Given the description of an element on the screen output the (x, y) to click on. 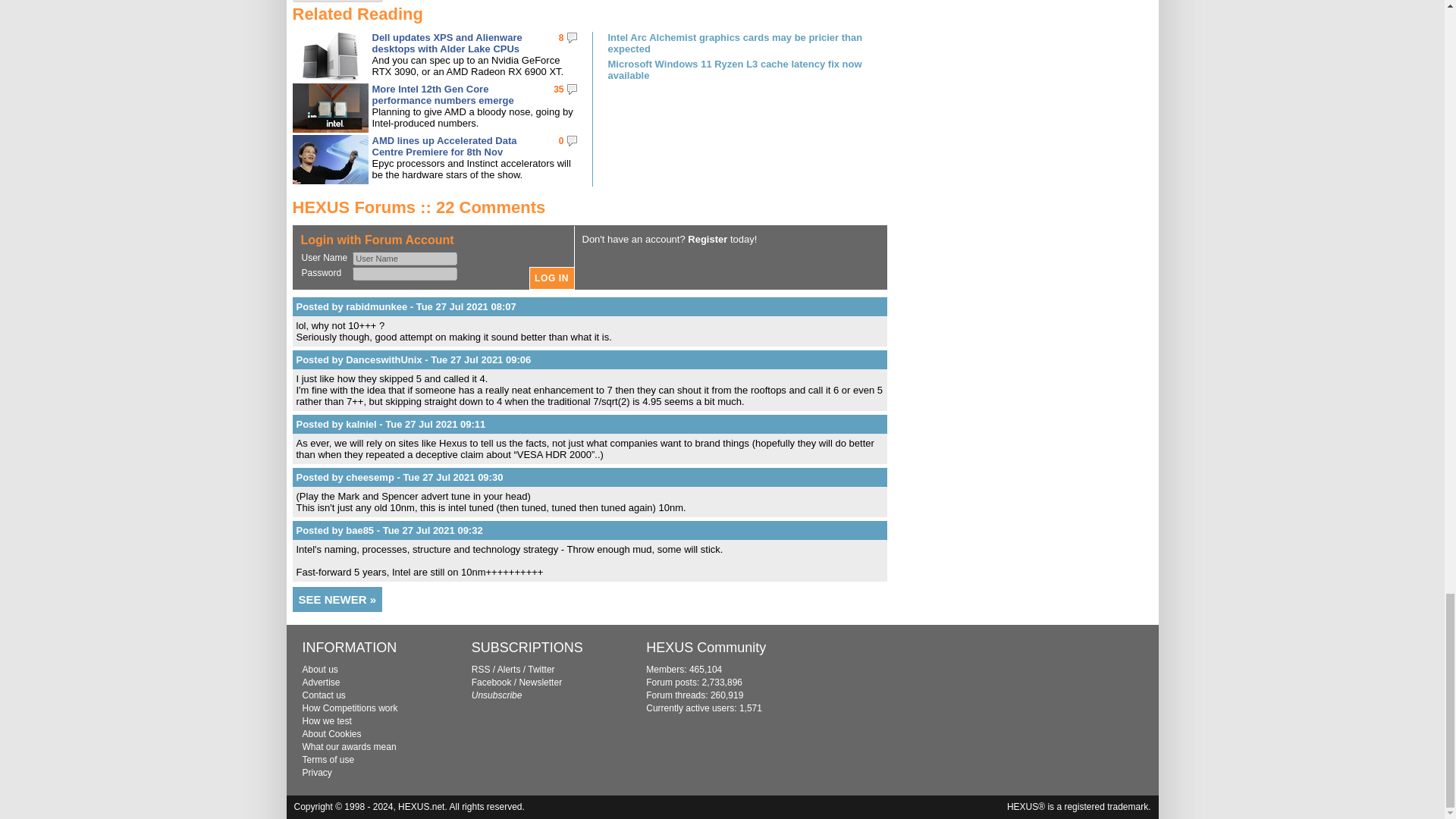
User Name (404, 258)
Dell updates XPS and Alienware desktops with Alder Lake CPUs (446, 42)
35 (558, 89)
More Intel 12th Gen Core performance numbers emerge (442, 94)
8 (561, 37)
Log in (552, 277)
